Given the description of an element on the screen output the (x, y) to click on. 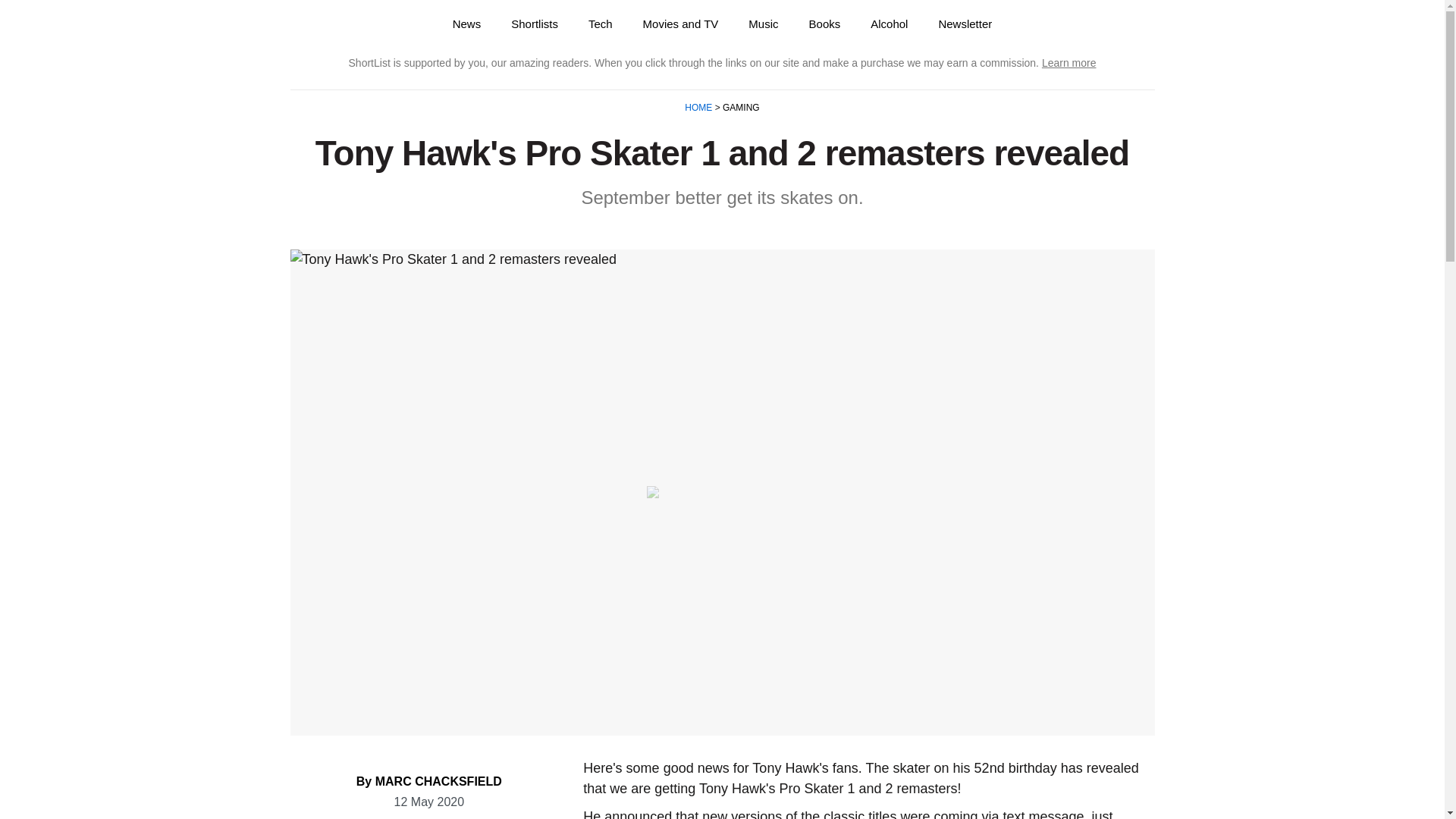
Alcohol (889, 23)
Shortlists (534, 23)
Movies and TV (680, 23)
Learn more (1069, 62)
By MARC CHACKSFIELD (429, 780)
Shortlist (346, 24)
GAMING (740, 107)
HOME (699, 107)
News (467, 23)
Books (824, 23)
Tech (600, 23)
Newsletter (965, 23)
Music (763, 23)
